Given the description of an element on the screen output the (x, y) to click on. 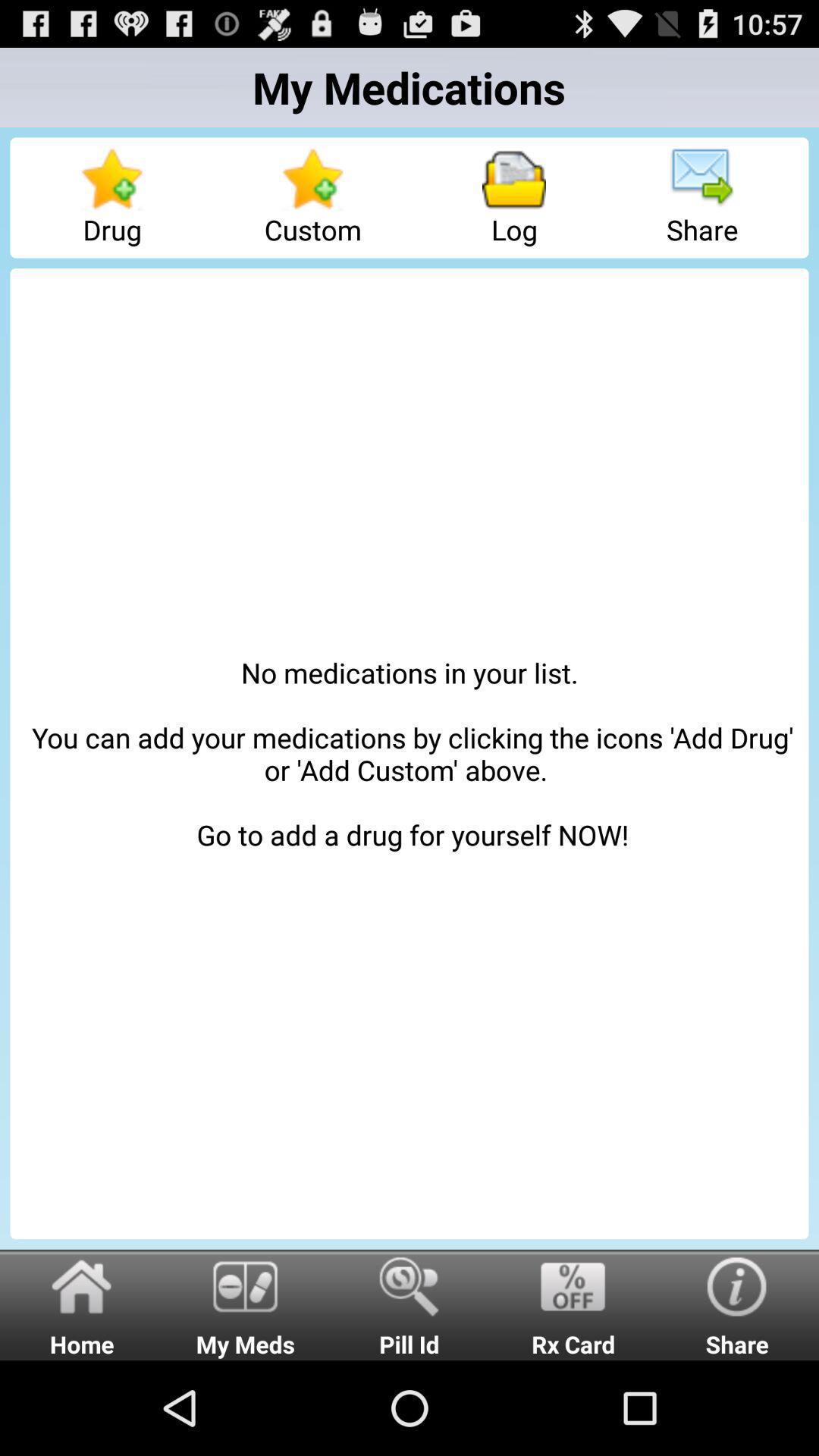
tap item next to share (514, 197)
